Given the description of an element on the screen output the (x, y) to click on. 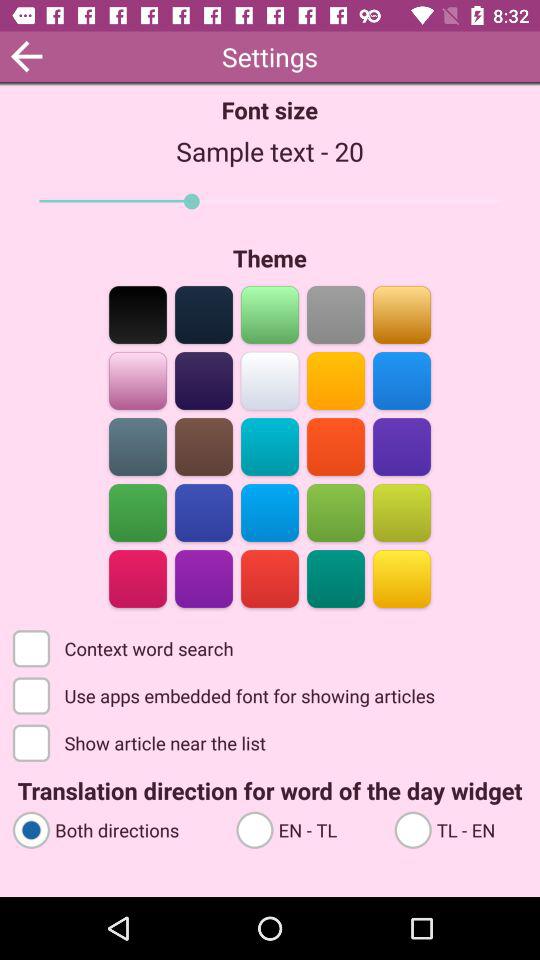
turn off the radio button next to en - tl item (115, 828)
